Given the description of an element on the screen output the (x, y) to click on. 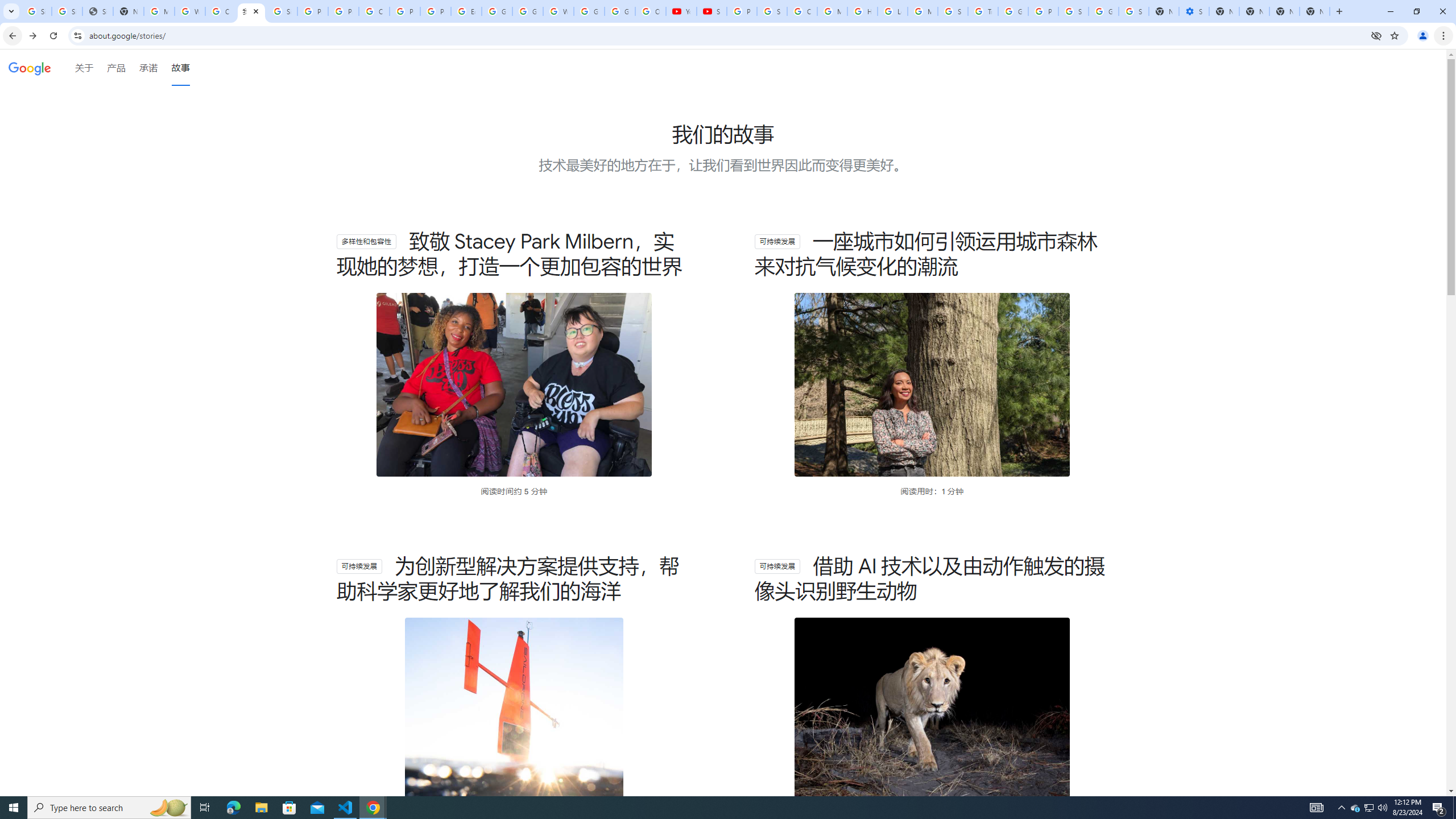
Sign in - Google Accounts (771, 11)
